Given the description of an element on the screen output the (x, y) to click on. 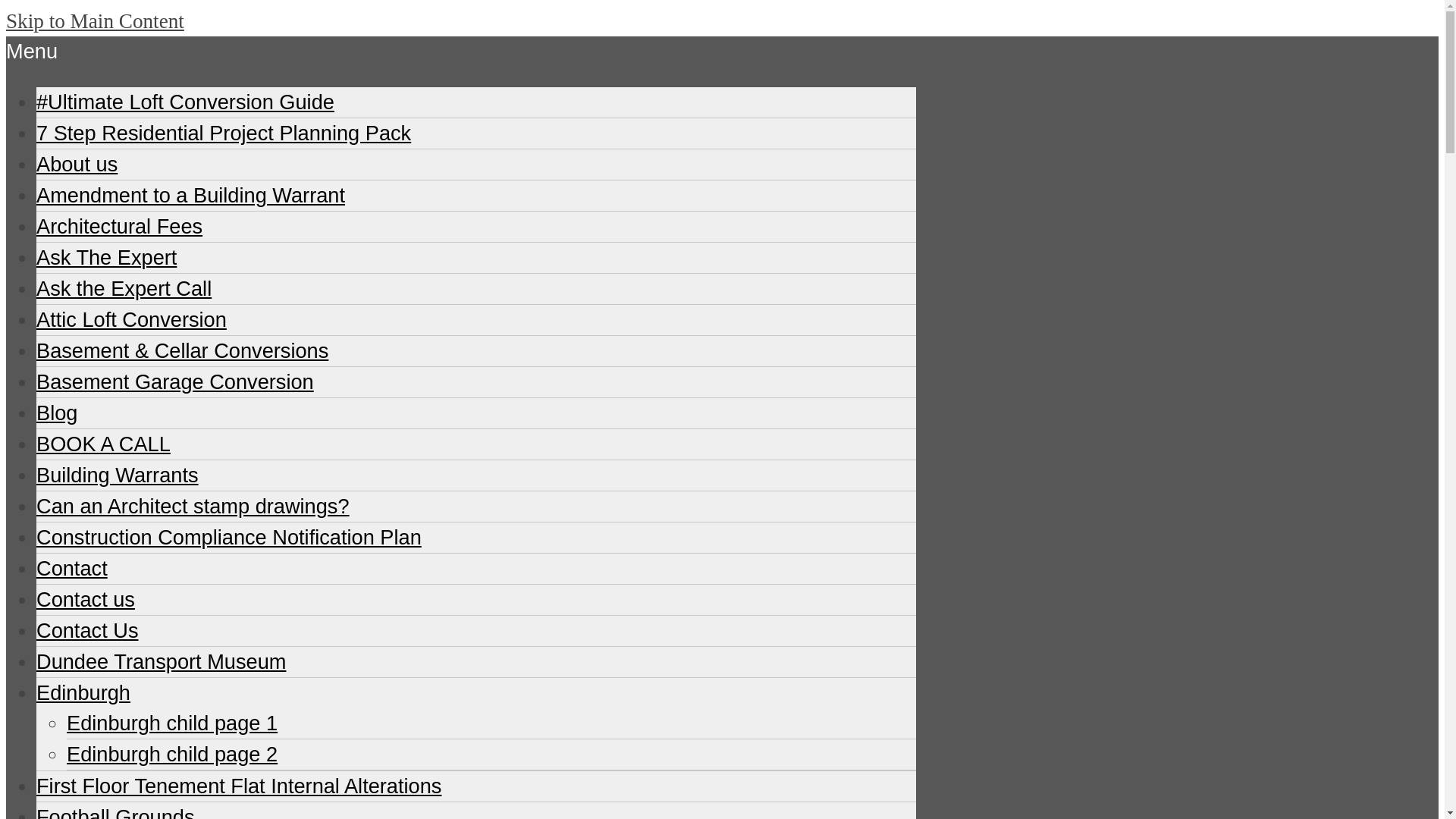
Edinburgh child page 2 (172, 753)
Can an Architect stamp drawings? (192, 505)
Contact us (85, 599)
Architectural Fees (119, 226)
Basement Garage Conversion (175, 381)
Football Grounds (115, 812)
Construction Compliance Notification Plan (229, 536)
Ask The Expert (106, 257)
Contact Us (87, 630)
Amendment to a Building Warrant (190, 195)
First Floor Tenement Flat Internal Alterations (238, 785)
Edinburgh (83, 692)
BOOK A CALL (103, 443)
Skip to Main Content (94, 20)
Building Warrants (117, 474)
